Given the description of an element on the screen output the (x, y) to click on. 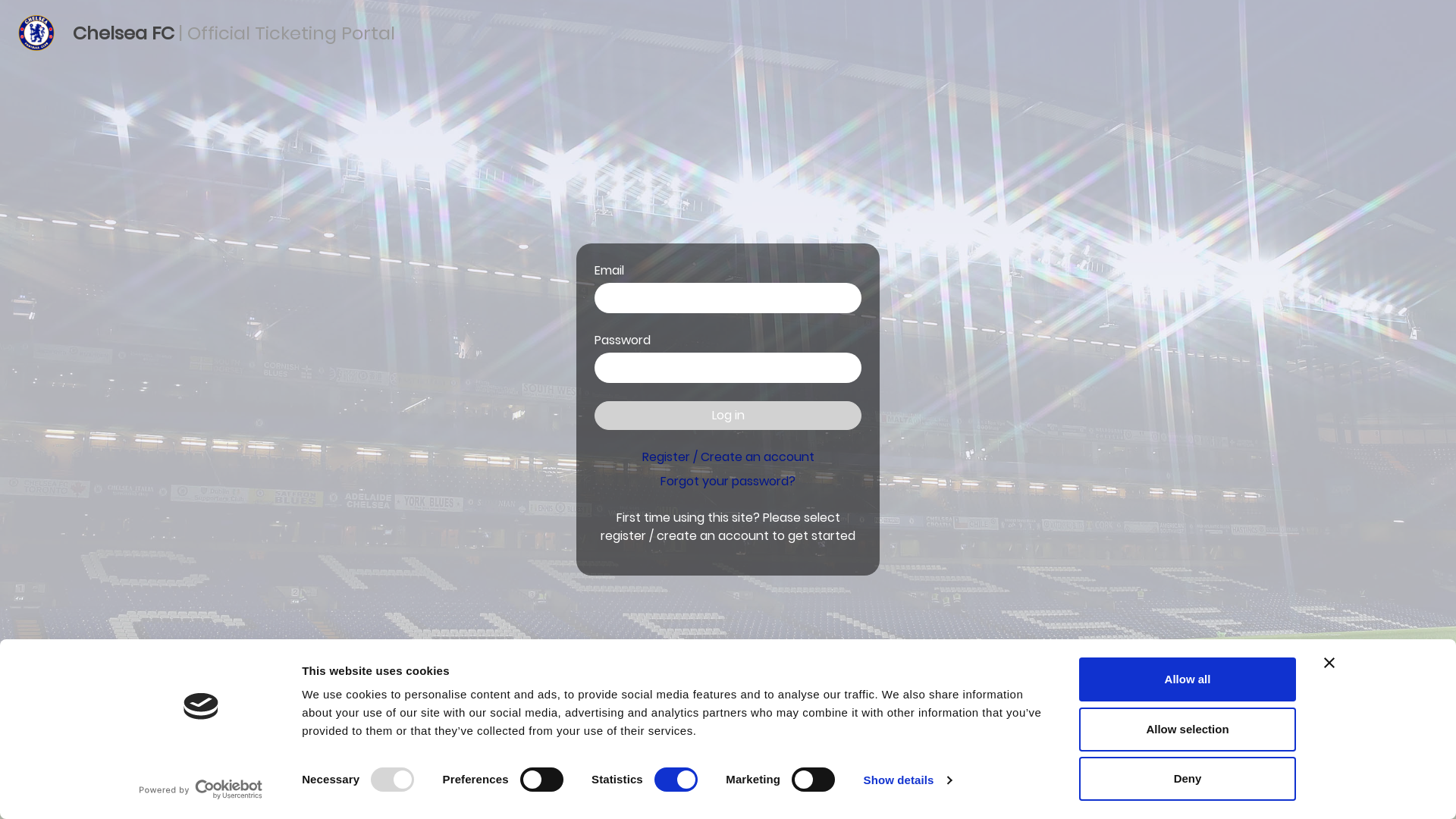
Allow selection Element type: text (1187, 728)
Allow all Element type: text (1187, 679)
Show details Element type: text (907, 779)
Register / Create an account Element type: text (727, 456)
Forgot your password? Element type: text (727, 480)
Deny Element type: text (1187, 778)
Log in Element type: text (727, 415)
